Given the description of an element on the screen output the (x, y) to click on. 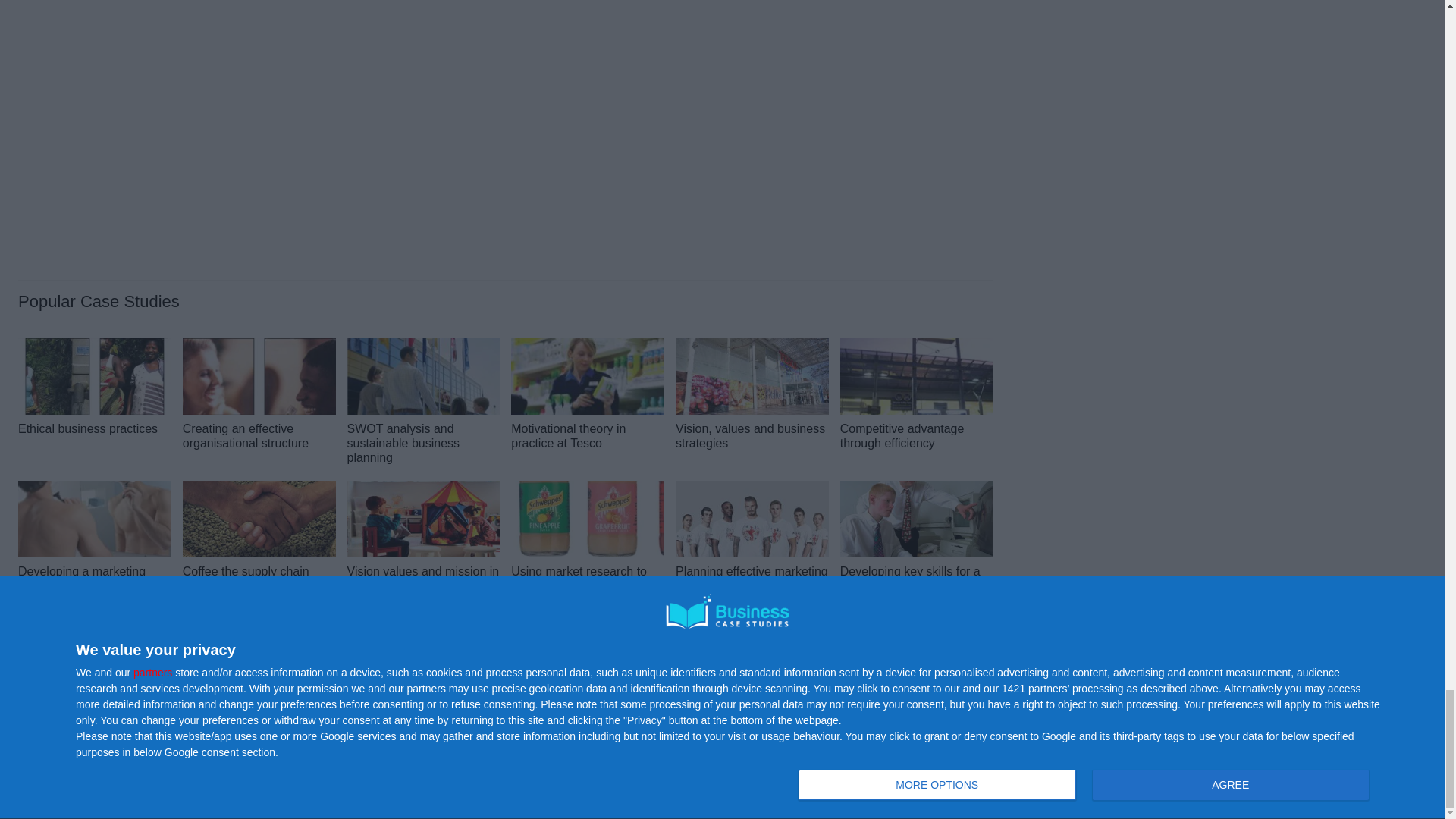
Ethical business practices (87, 428)
Creating an effective organisational structure (259, 376)
Ethical business practices (94, 376)
